Given the description of an element on the screen output the (x, y) to click on. 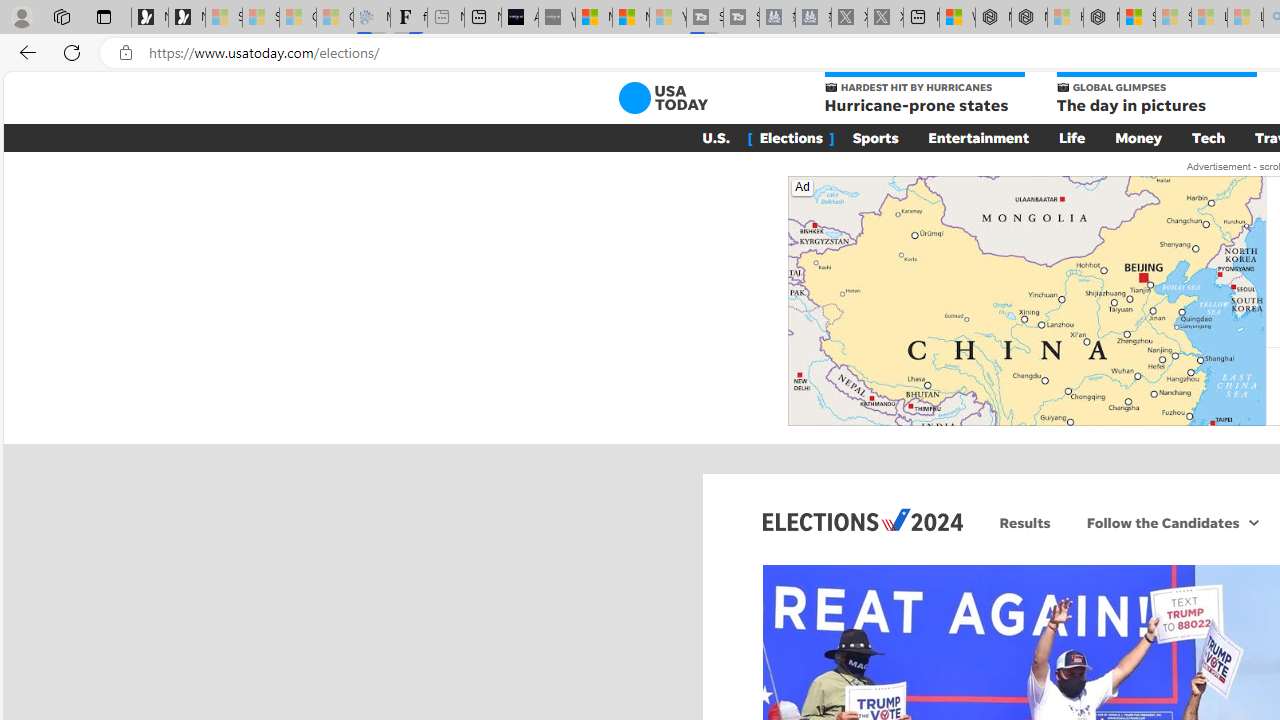
Class: gnt_n_lg_svg (662, 97)
X - Sleeping (884, 17)
AI Voice Changer for PC and Mac - Voice.ai (519, 17)
Microsoft Start Sports (593, 17)
Sports (875, 137)
Life (1072, 137)
Nordace - Summer Adventures 2024 (1029, 17)
Follow the Candidates (1160, 521)
